Given the description of an element on the screen output the (x, y) to click on. 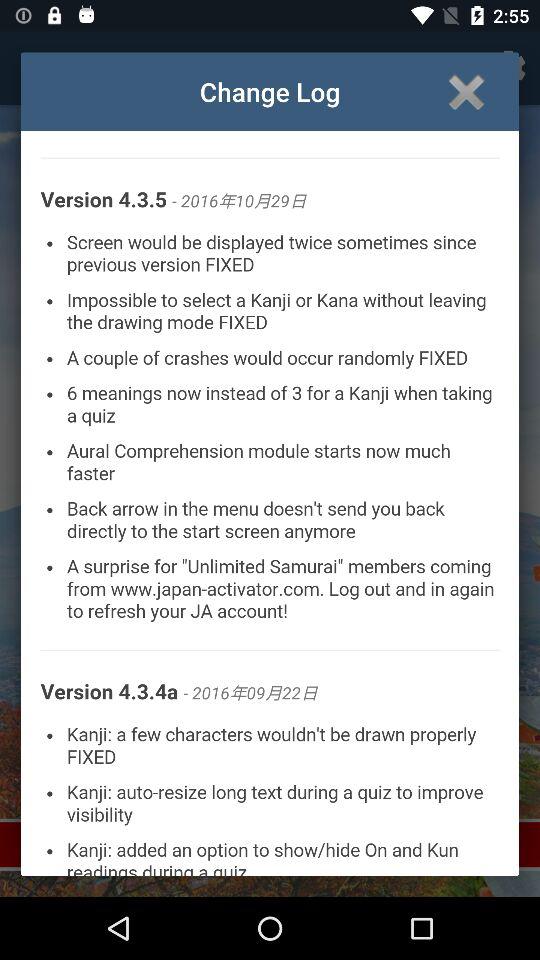
go to close (466, 91)
